Given the description of an element on the screen output the (x, y) to click on. 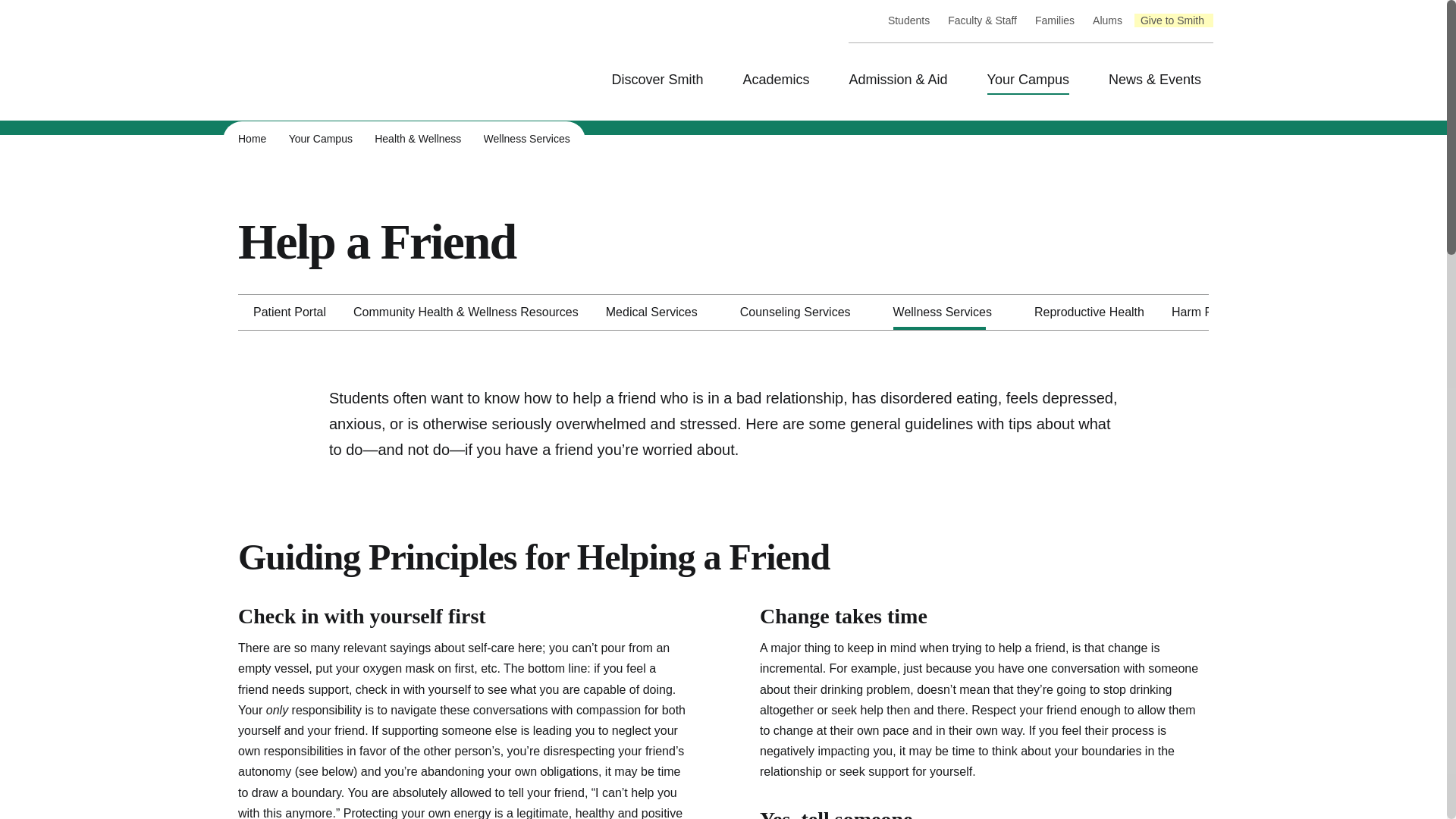
Students (909, 21)
Search Toggle (863, 20)
Alums (1107, 21)
Discover Smith (660, 79)
Smith College logo (359, 81)
Academics (779, 79)
Families (1054, 21)
Give to Smith (1171, 21)
Search (13, 13)
